Given the description of an element on the screen output the (x, y) to click on. 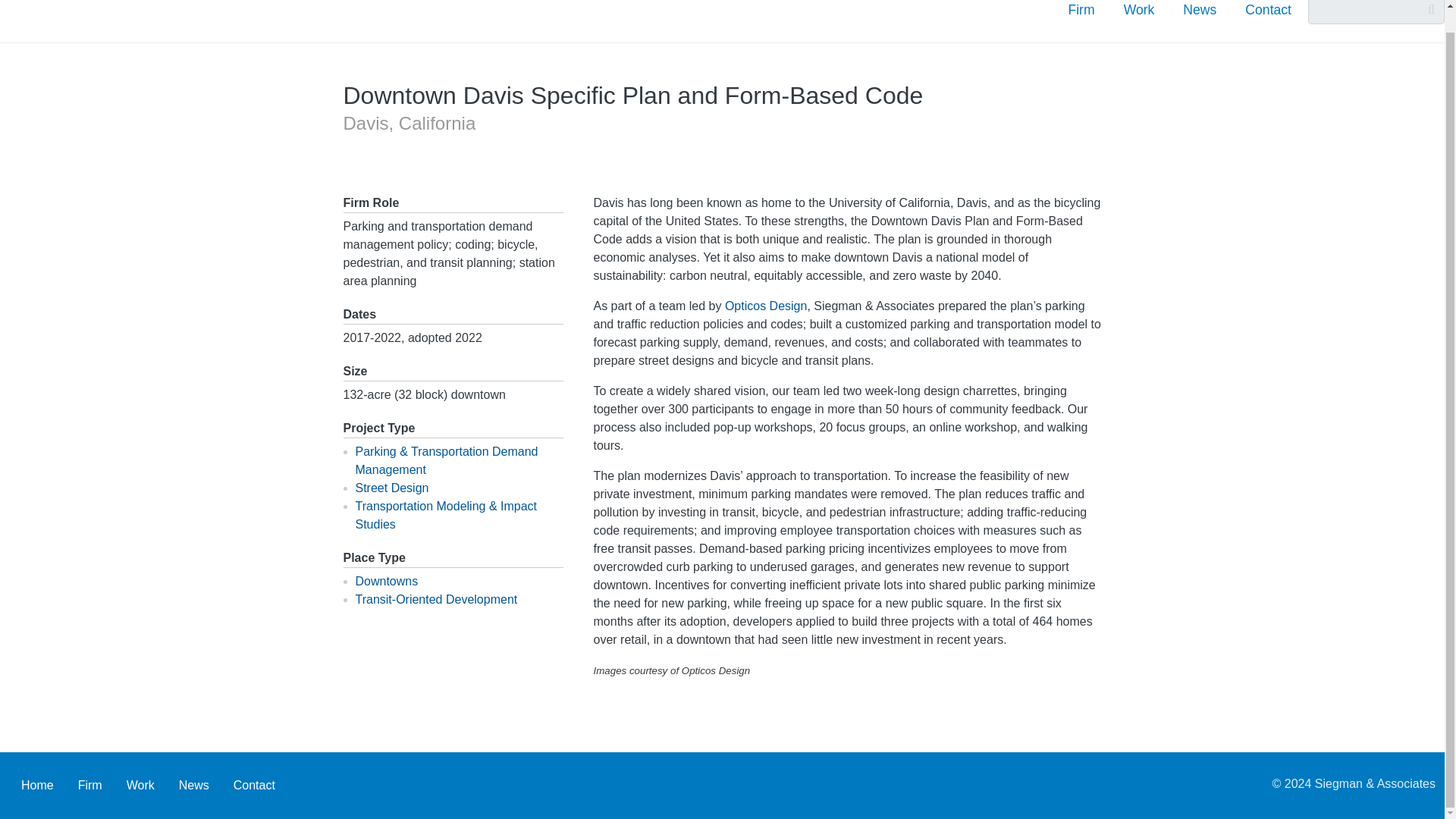
Firm (90, 785)
Opticos Design (766, 305)
News (194, 785)
Firm (1080, 12)
Home (136, 16)
Home (36, 785)
Contact (253, 785)
News (1199, 12)
Work (141, 785)
Street Design (391, 487)
